Given the description of an element on the screen output the (x, y) to click on. 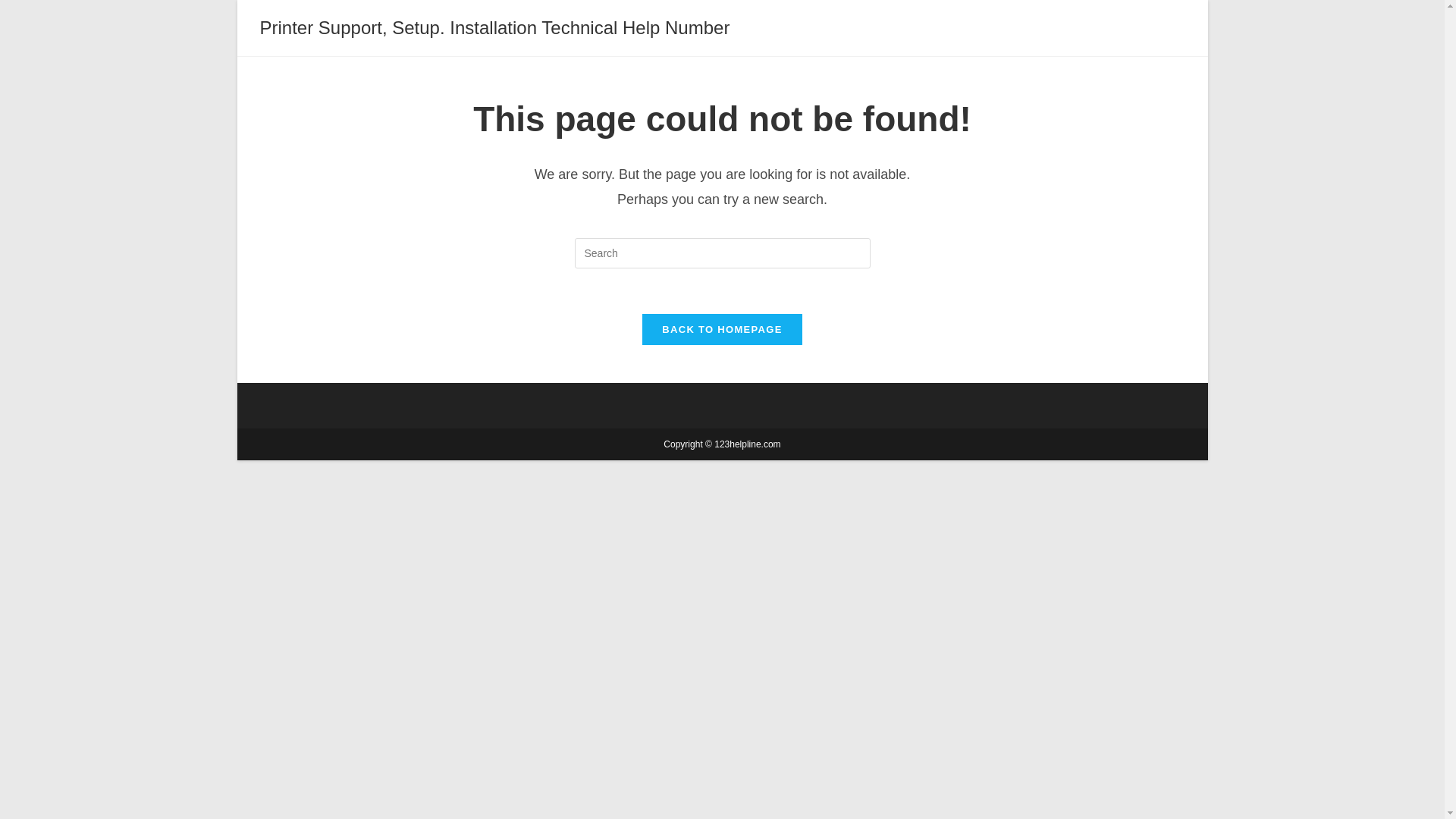
Printer Support, Setup. Installation Technical Help Number Element type: text (494, 27)
BACK TO HOMEPAGE Element type: text (721, 329)
